Given the description of an element on the screen output the (x, y) to click on. 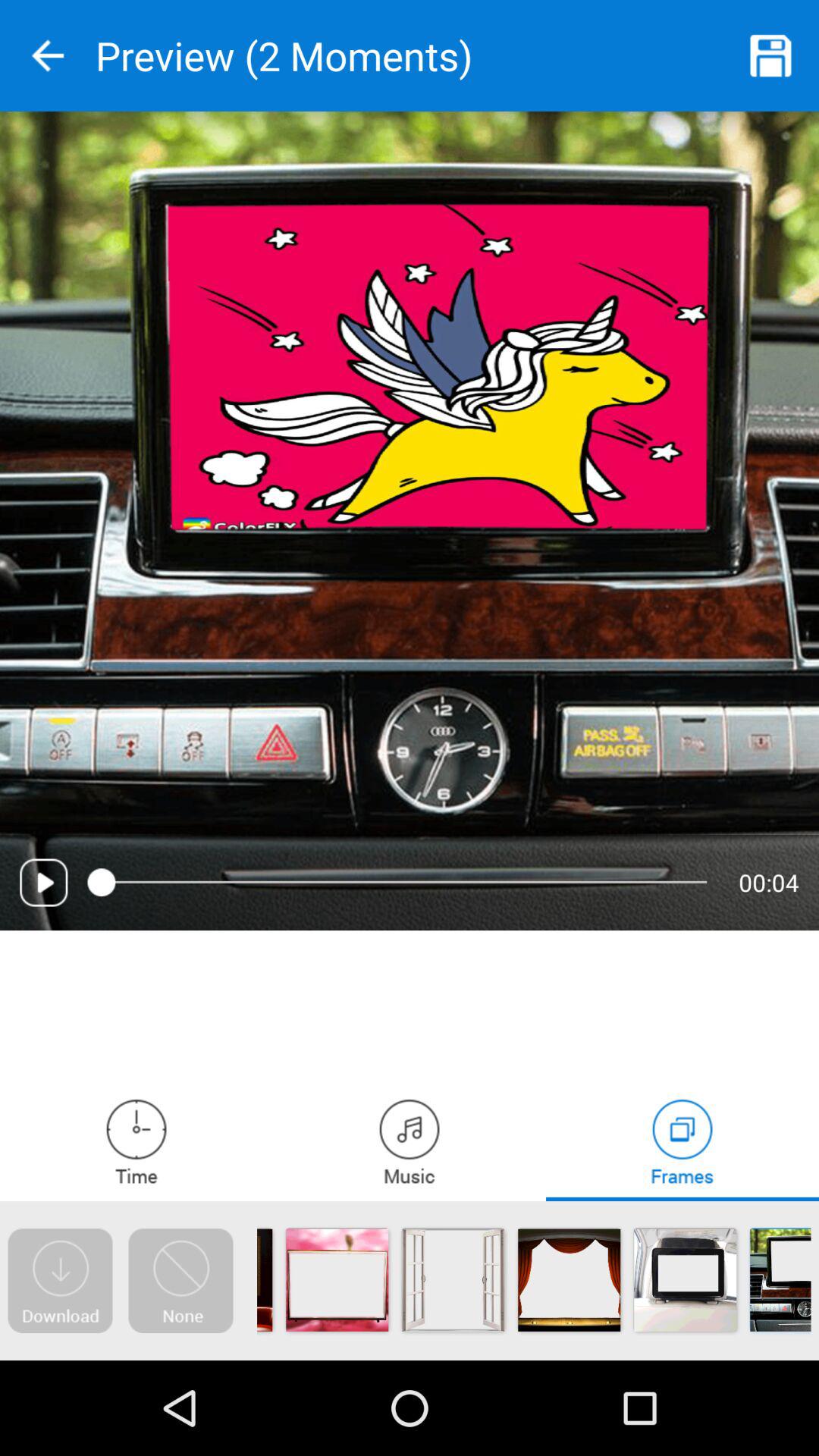
click none (180, 1280)
